Given the description of an element on the screen output the (x, y) to click on. 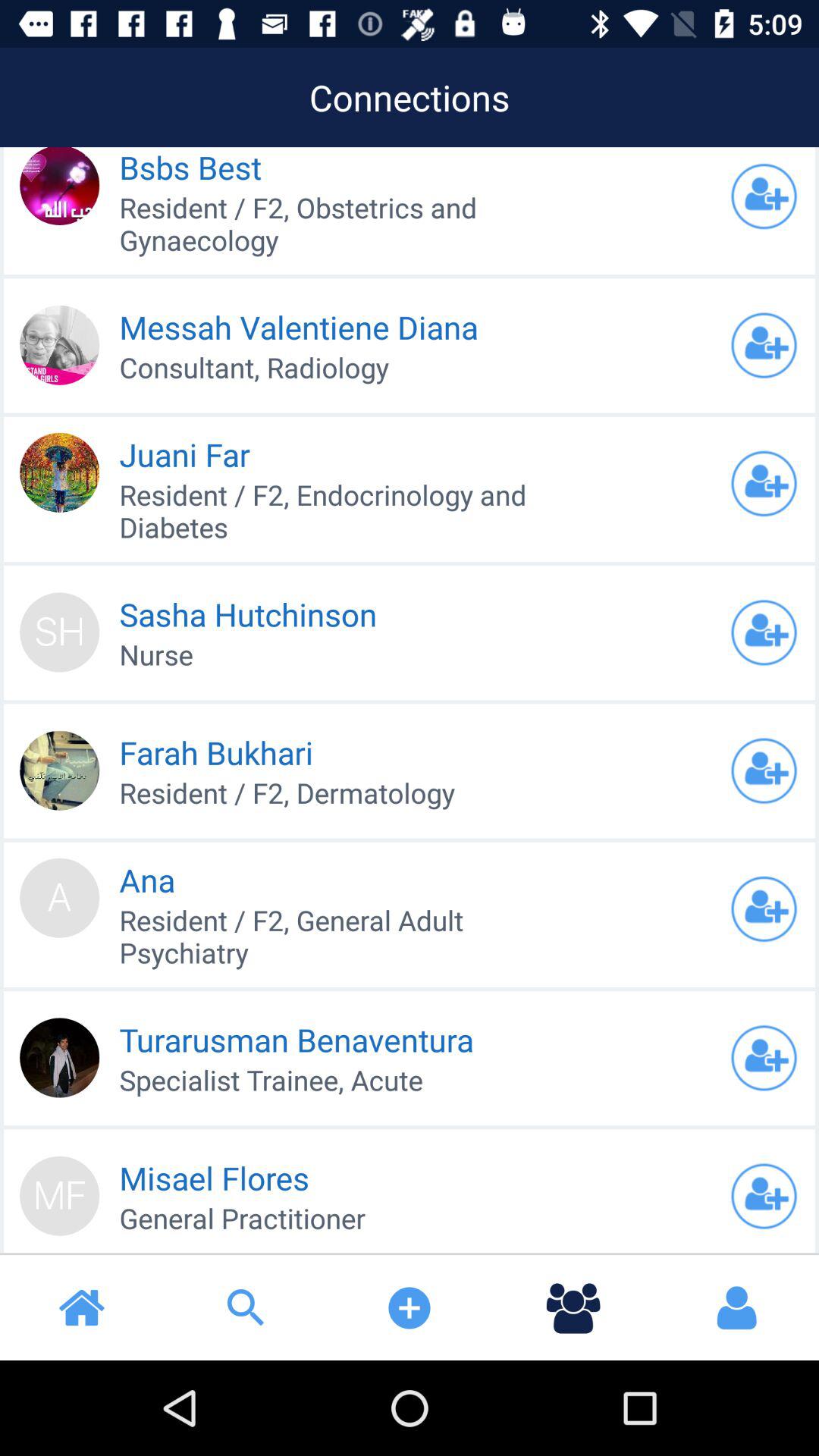
friend request to others (764, 1196)
